Given the description of an element on the screen output the (x, y) to click on. 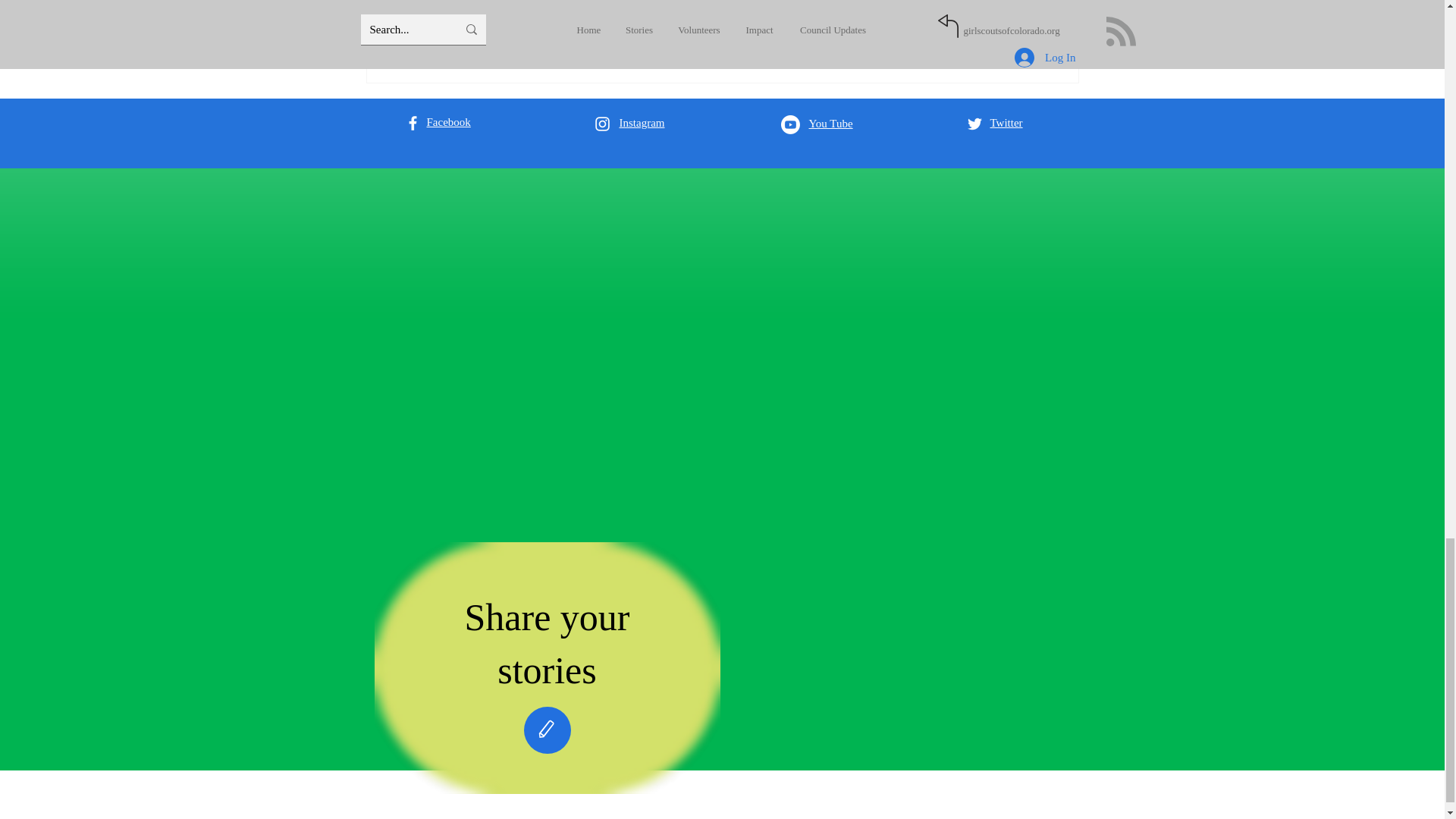
You Tube (829, 123)
Instagram (640, 122)
Twitter (1006, 122)
Facebook (448, 121)
